Given the description of an element on the screen output the (x, y) to click on. 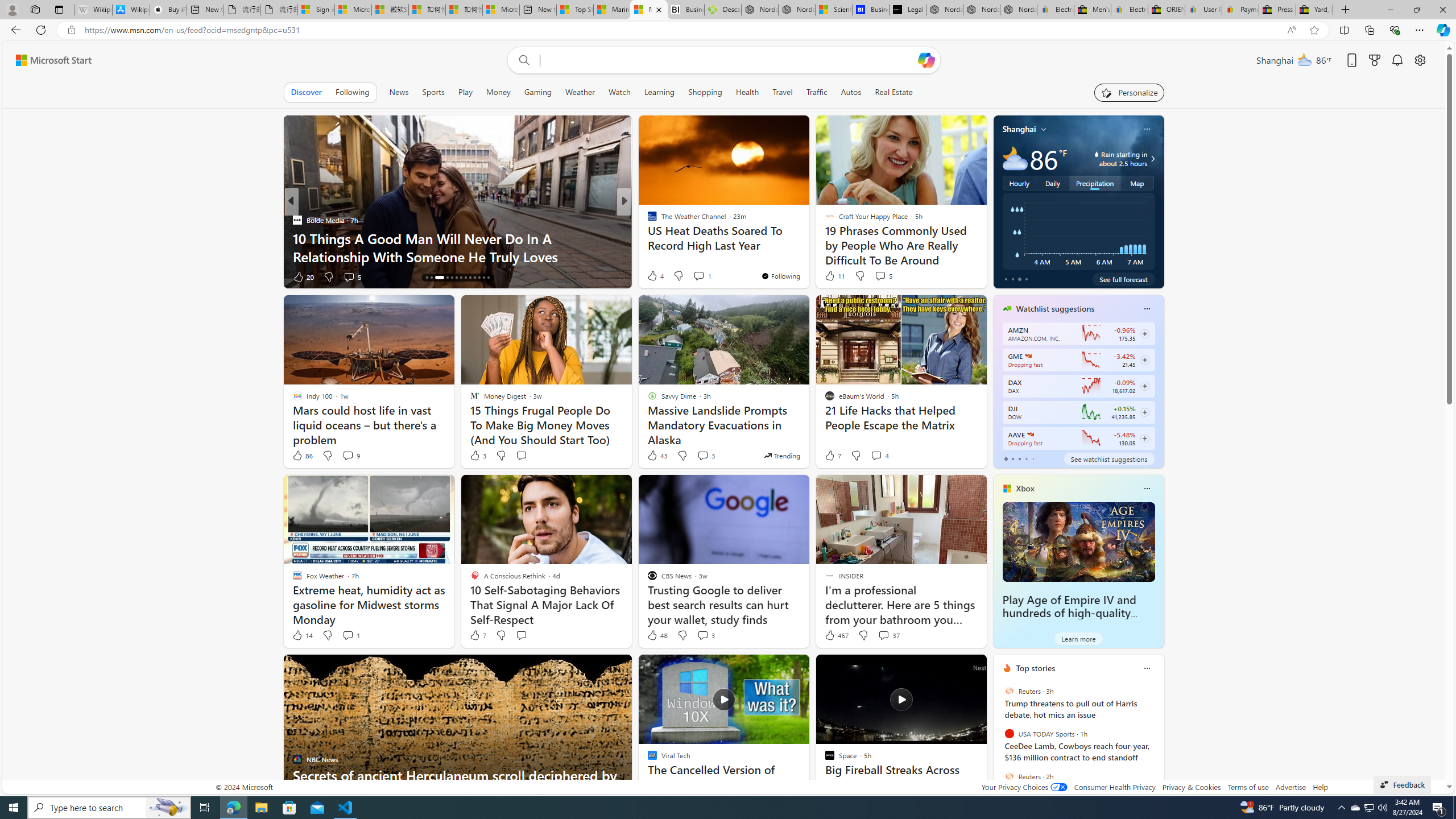
AutomationID: tab-21 (465, 277)
tab-0 (1005, 458)
Shanghai (1018, 128)
Your Privacy Choices (1024, 786)
7 Like (477, 634)
Gaming (537, 92)
Gaming (537, 92)
Press Room - eBay Inc. (1276, 9)
Traffic (816, 92)
PC World (647, 219)
Wikipedia - Sleeping (92, 9)
